Given the description of an element on the screen output the (x, y) to click on. 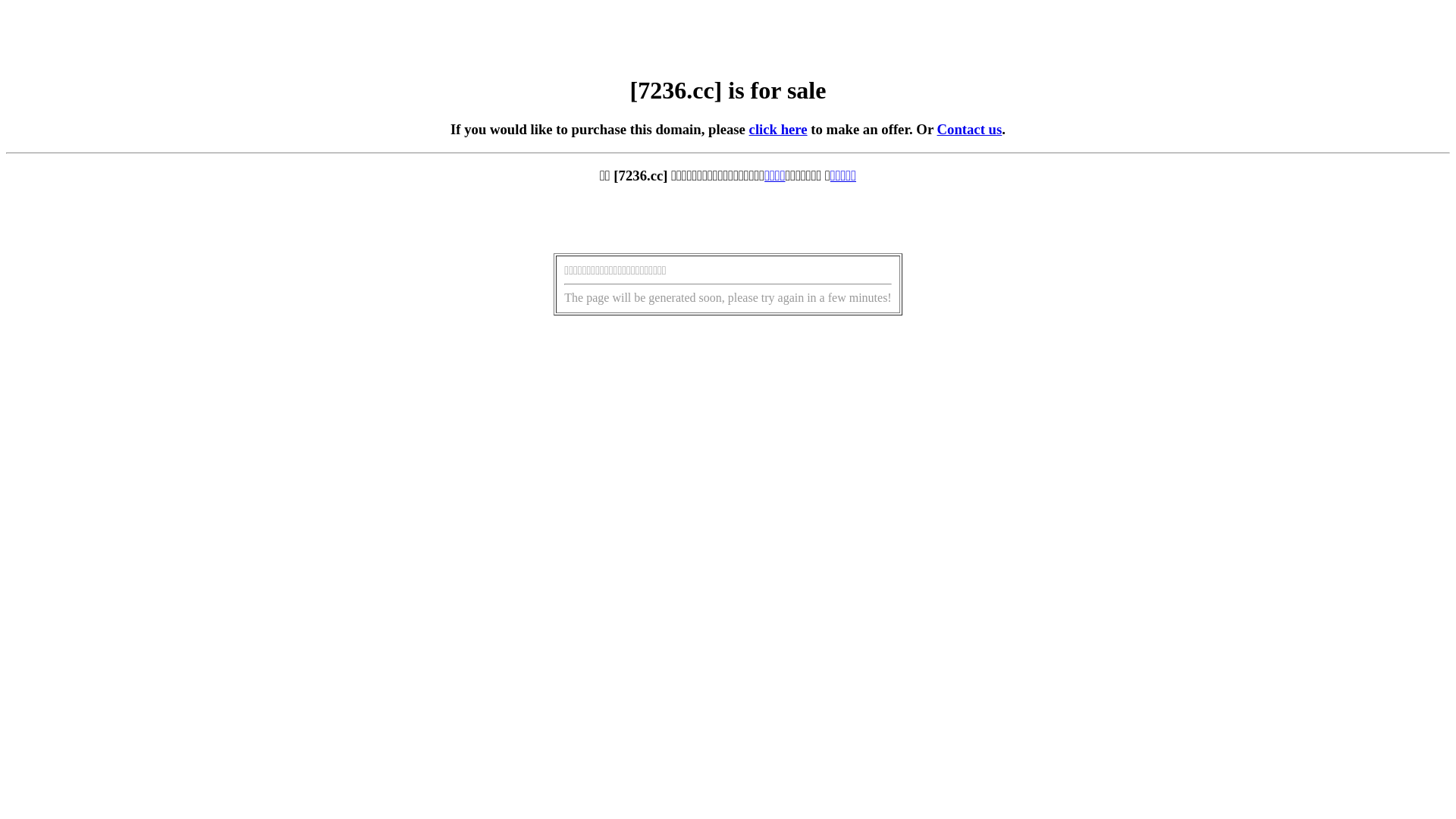
Contact us Element type: text (969, 129)
click here Element type: text (778, 129)
